Given the description of an element on the screen output the (x, y) to click on. 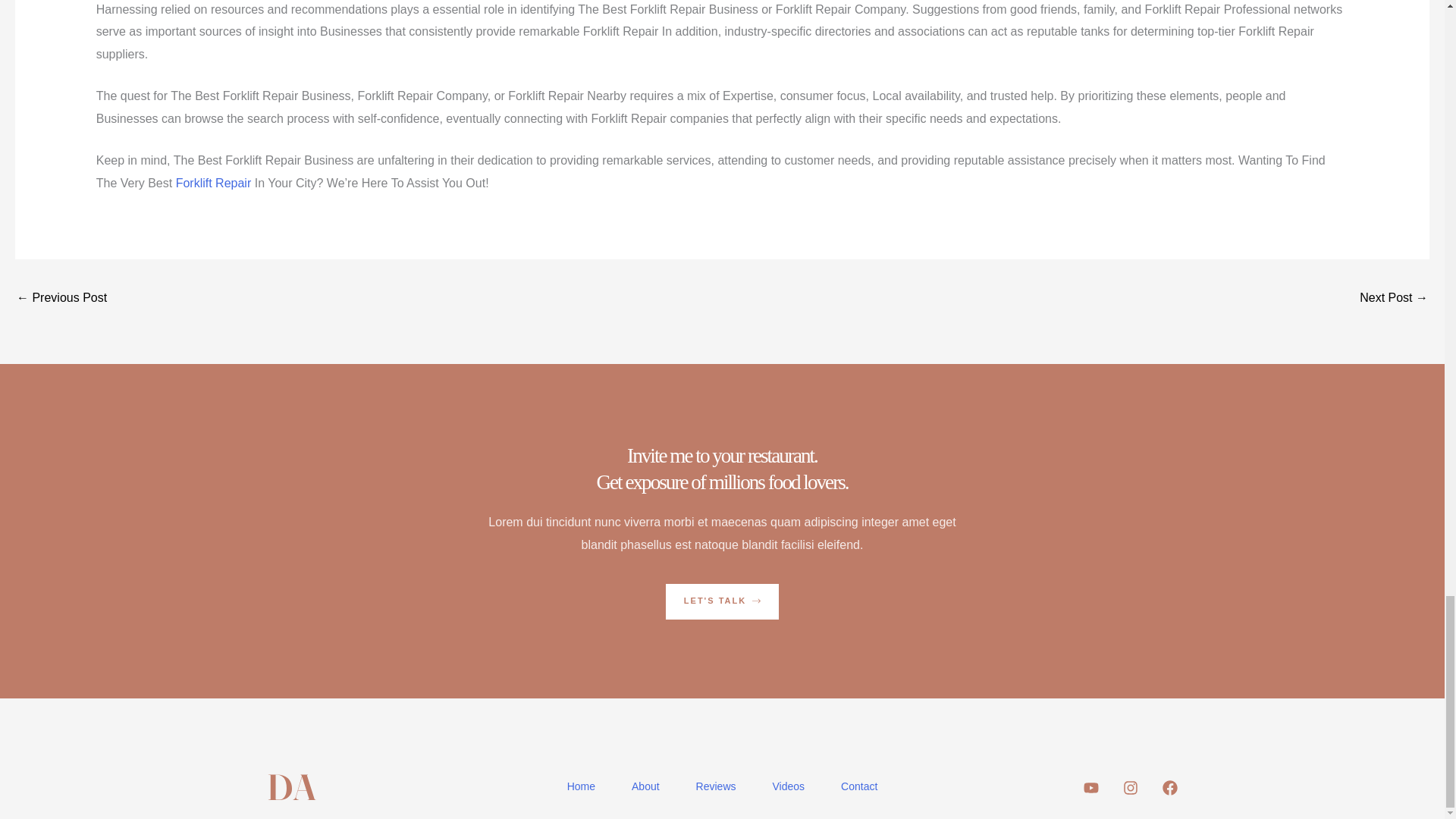
Forklift Repair (213, 182)
LET'S TALK (721, 601)
Videos (789, 786)
About (645, 786)
Reviews (716, 786)
Contact (858, 786)
Home (580, 786)
